Given the description of an element on the screen output the (x, y) to click on. 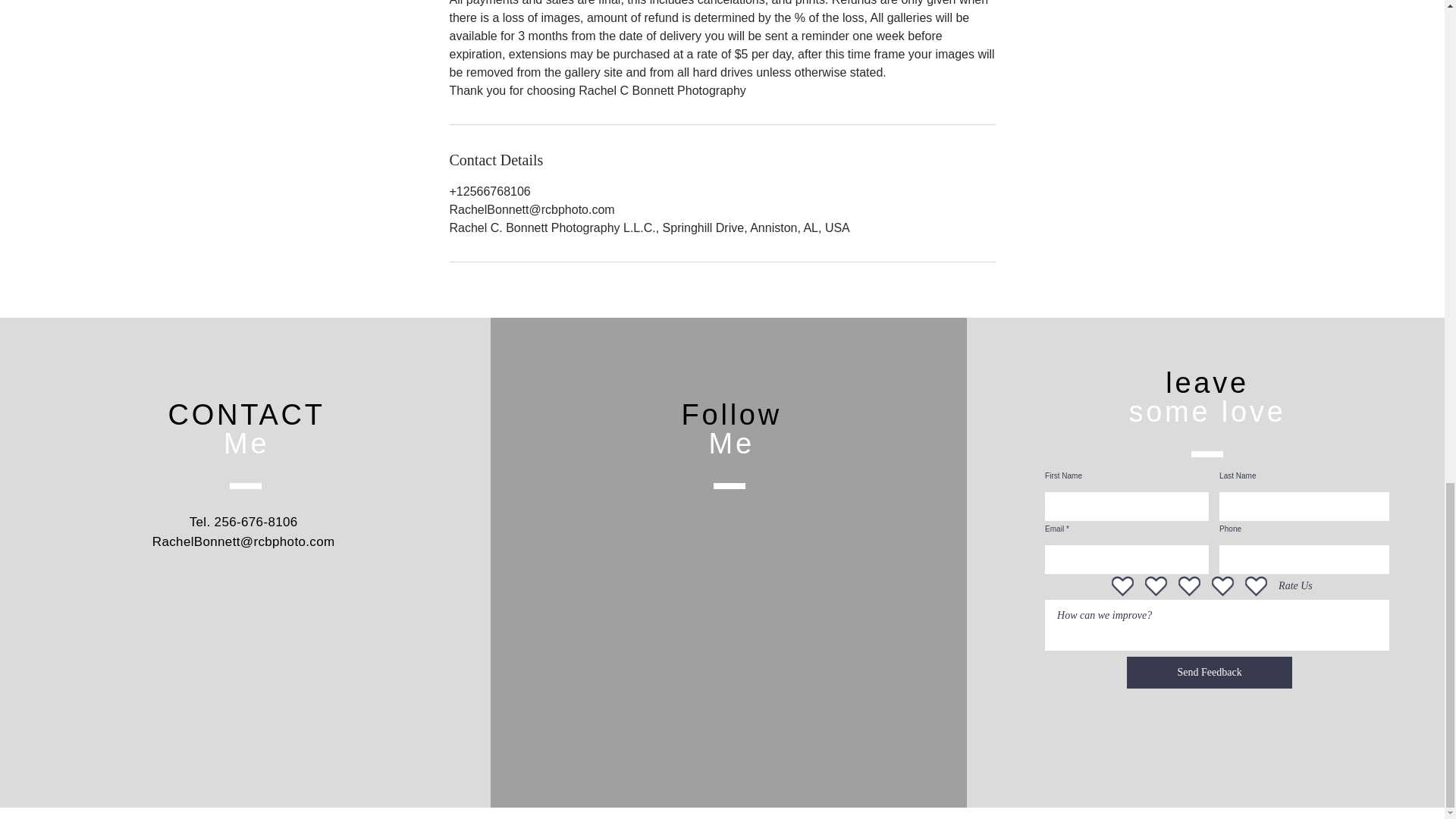
Send Feedback (1209, 672)
